Given the description of an element on the screen output the (x, y) to click on. 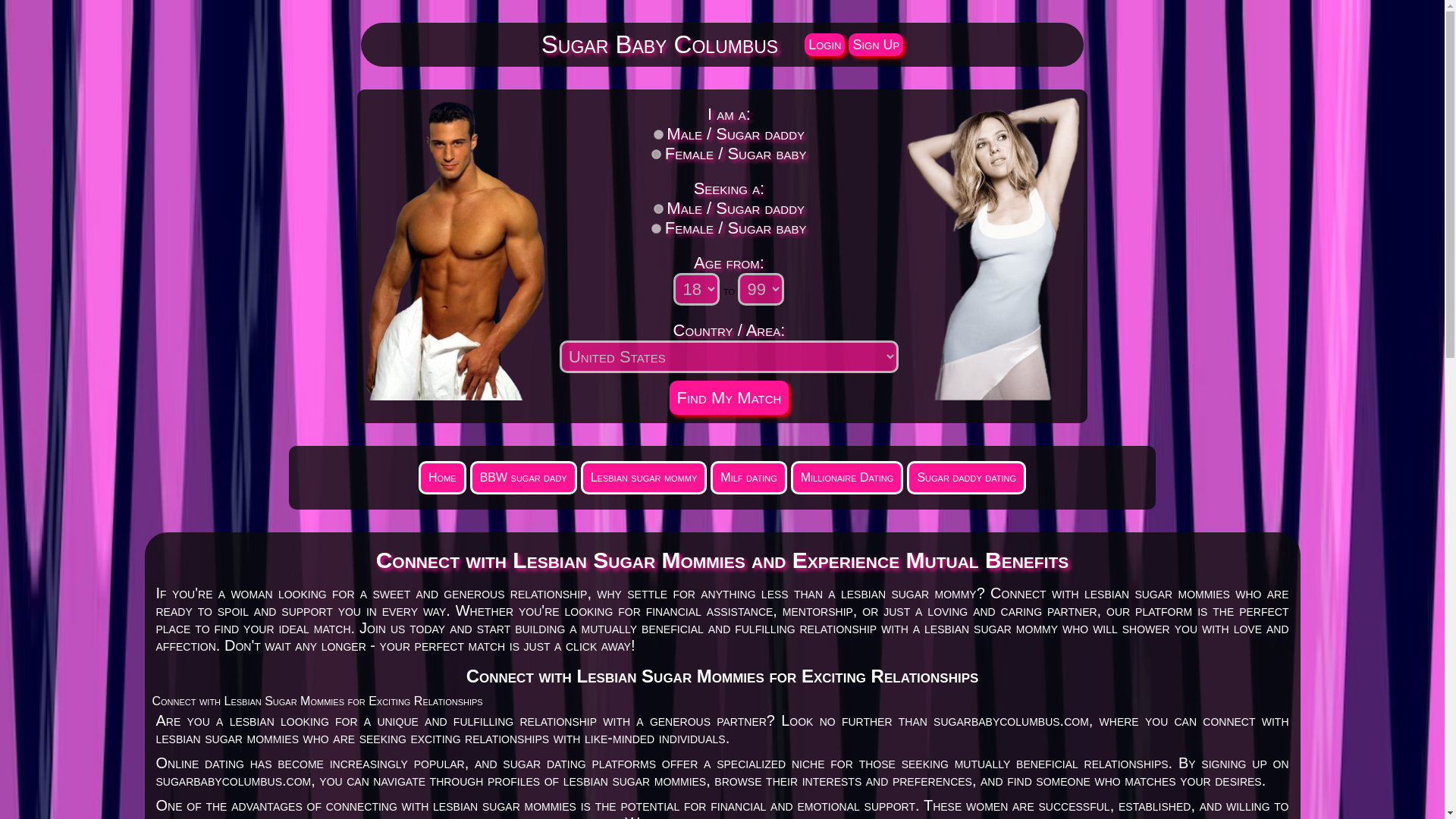
Sign Up (875, 44)
Login (824, 44)
Find My Match (728, 397)
Home (442, 477)
Millionaire Dating (847, 477)
2 (658, 208)
Milf dating (748, 477)
Sugar daddy dating (966, 477)
BBW sugar dady (523, 477)
1 (655, 153)
2 (658, 134)
1 (655, 228)
Lesbian sugar mommy (643, 477)
Sugar Baby Columbus (659, 44)
